Given the description of an element on the screen output the (x, y) to click on. 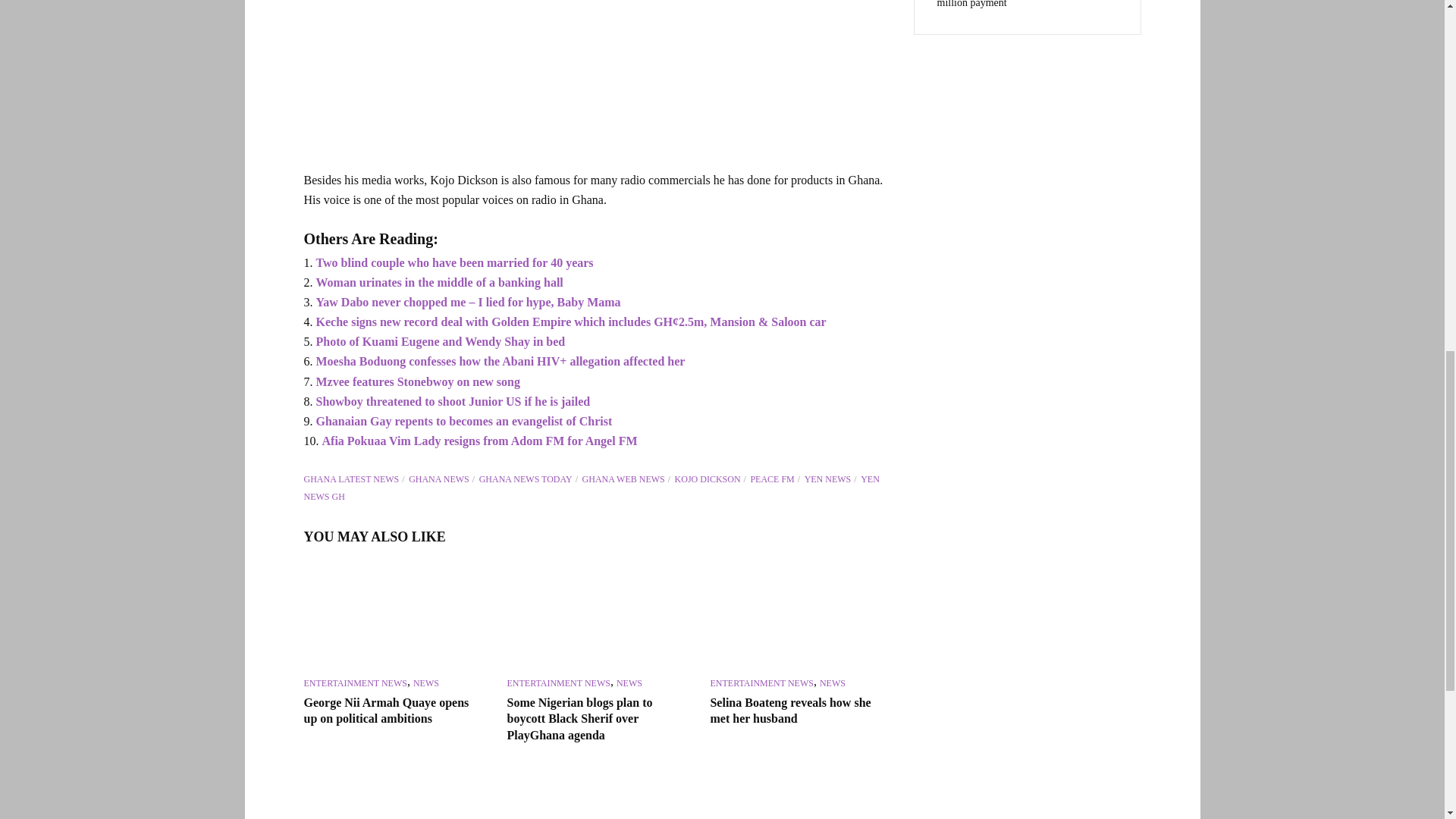
Mzvee features Stonebwoy on new song (417, 381)
Mzvee features Stonebwoy on new song (417, 381)
Woman urinates in the middle of a banking hall (438, 282)
George Nii Armah Quaye opens up on political ambitions (390, 616)
Woman urinates in the middle of a banking hall (438, 282)
Showboy threatened to shoot Junior US if he is jailed (452, 400)
Two blind couple who have been married for 40 years (453, 262)
Two blind couple who have been married for 40 years (453, 262)
Photo of Kuami Eugene and Wendy Shay in bed (439, 341)
